Given the description of an element on the screen output the (x, y) to click on. 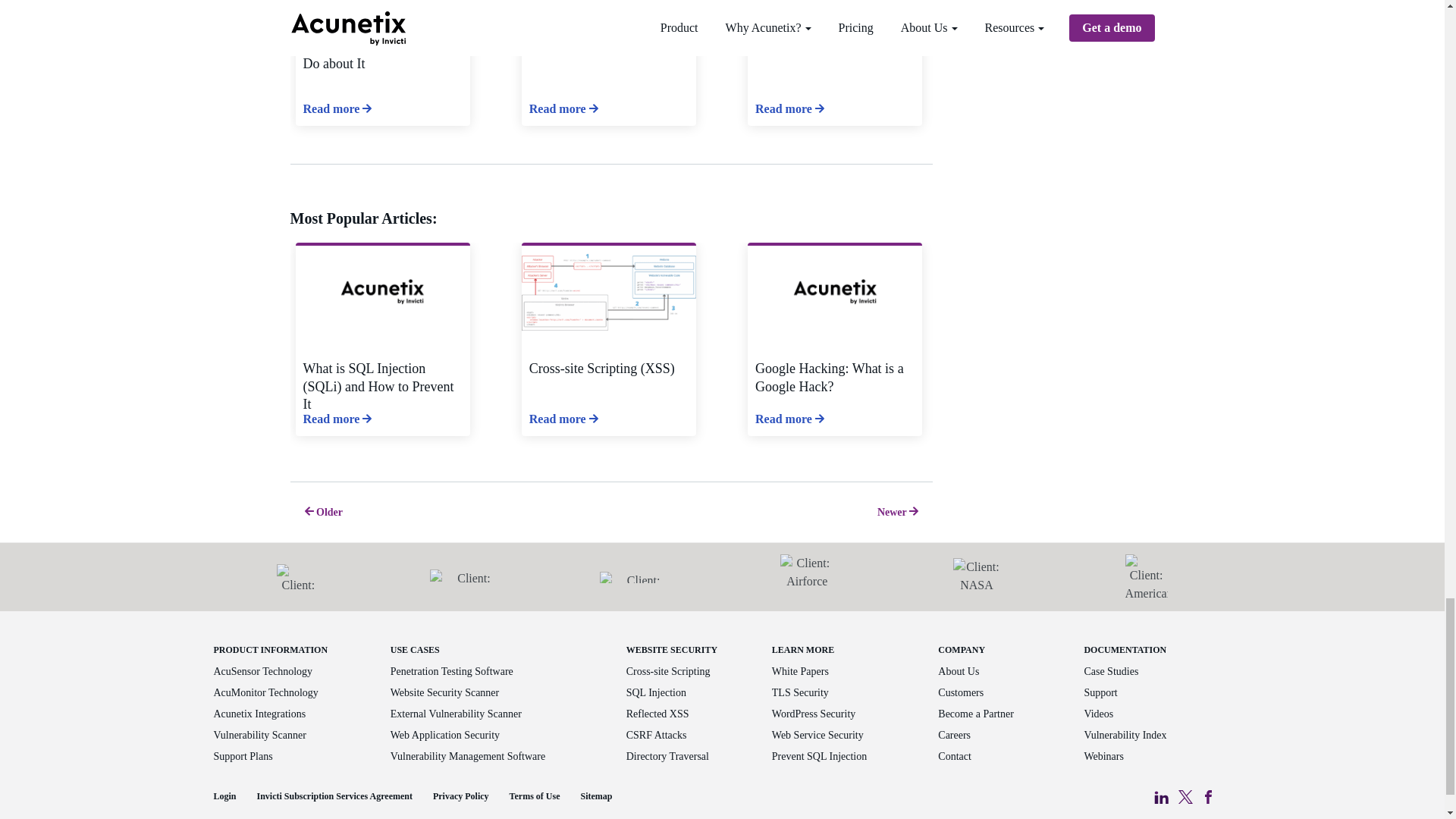
Client: American Express (1146, 576)
Client: AWS (297, 576)
Client: Garmin (637, 577)
Penetration Testing Software (451, 671)
Client: NASA (976, 577)
AcuMonitor Technology (266, 692)
Website Security Scanner (444, 692)
Client: Airforce (807, 576)
AcuSensor Technology (263, 671)
Client: Cognizant (467, 577)
Support Plans (243, 756)
